Given the description of an element on the screen output the (x, y) to click on. 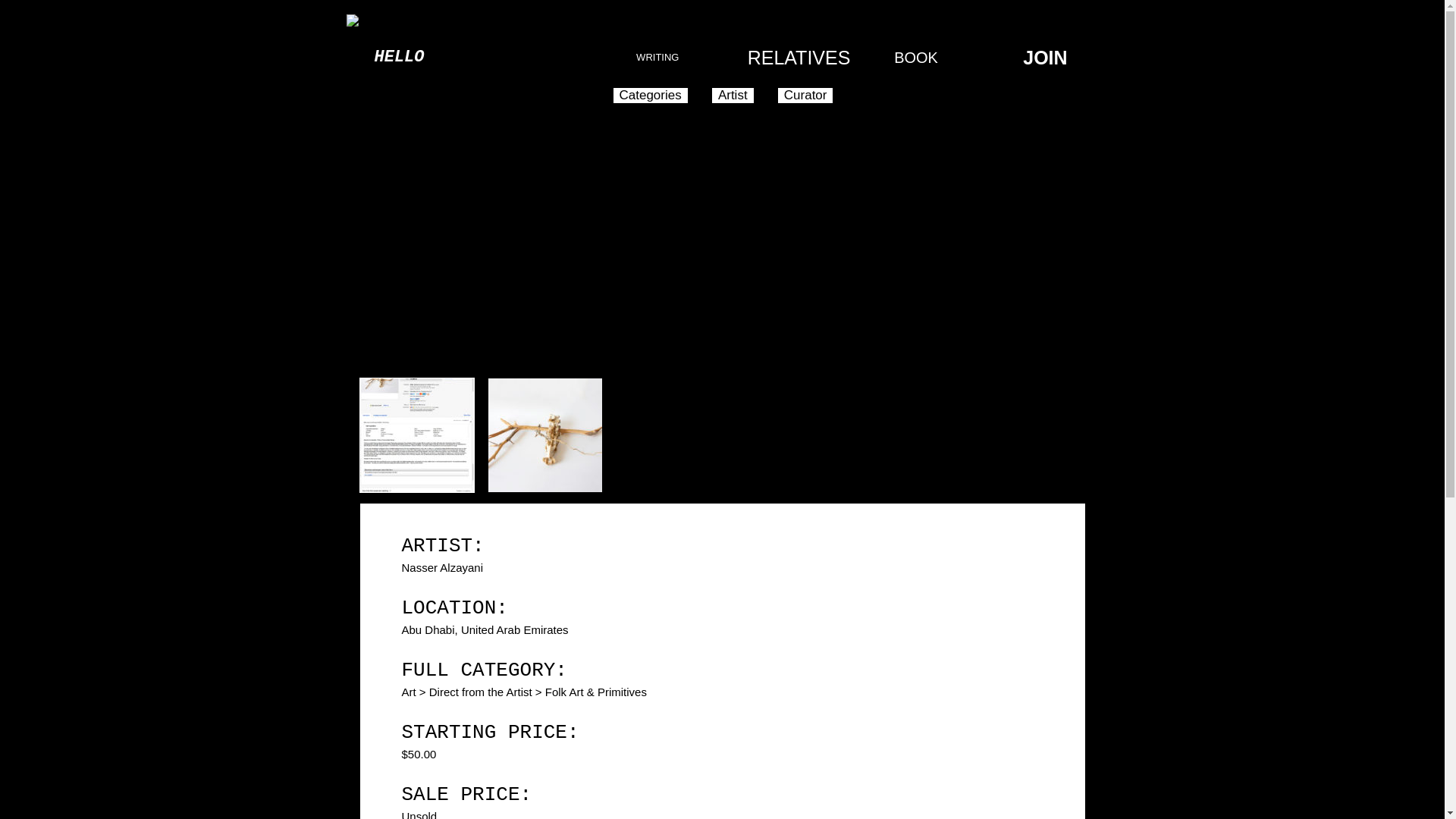
WRITING (657, 57)
Curator (804, 95)
BOOK (915, 57)
Categories (649, 95)
RELATIVES (787, 57)
AUCTION ARCHIVE (528, 57)
HELLO (398, 57)
JOIN (1045, 57)
Artist (732, 95)
